Given the description of an element on the screen output the (x, y) to click on. 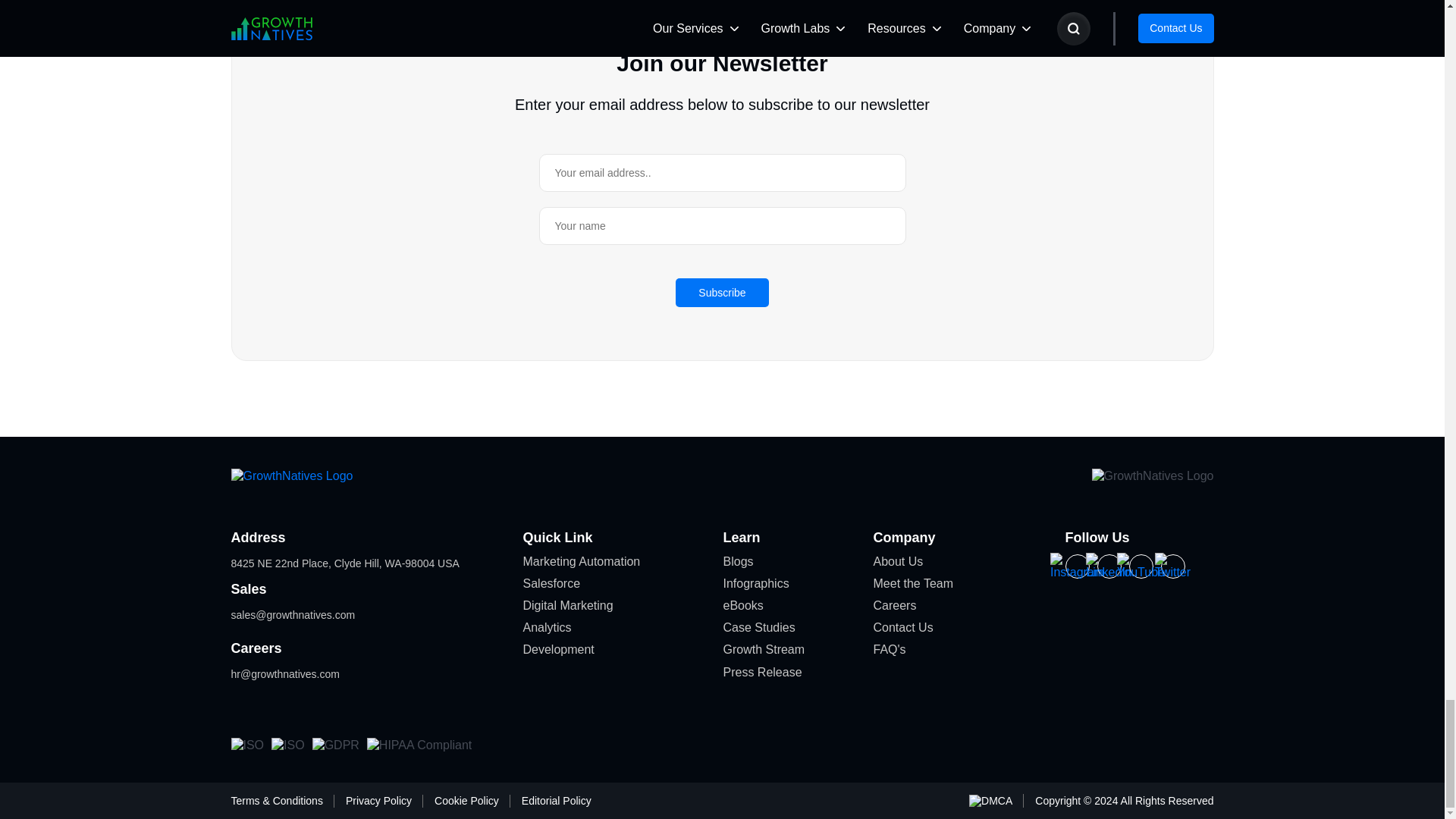
Subscribe (721, 292)
